Given the description of an element on the screen output the (x, y) to click on. 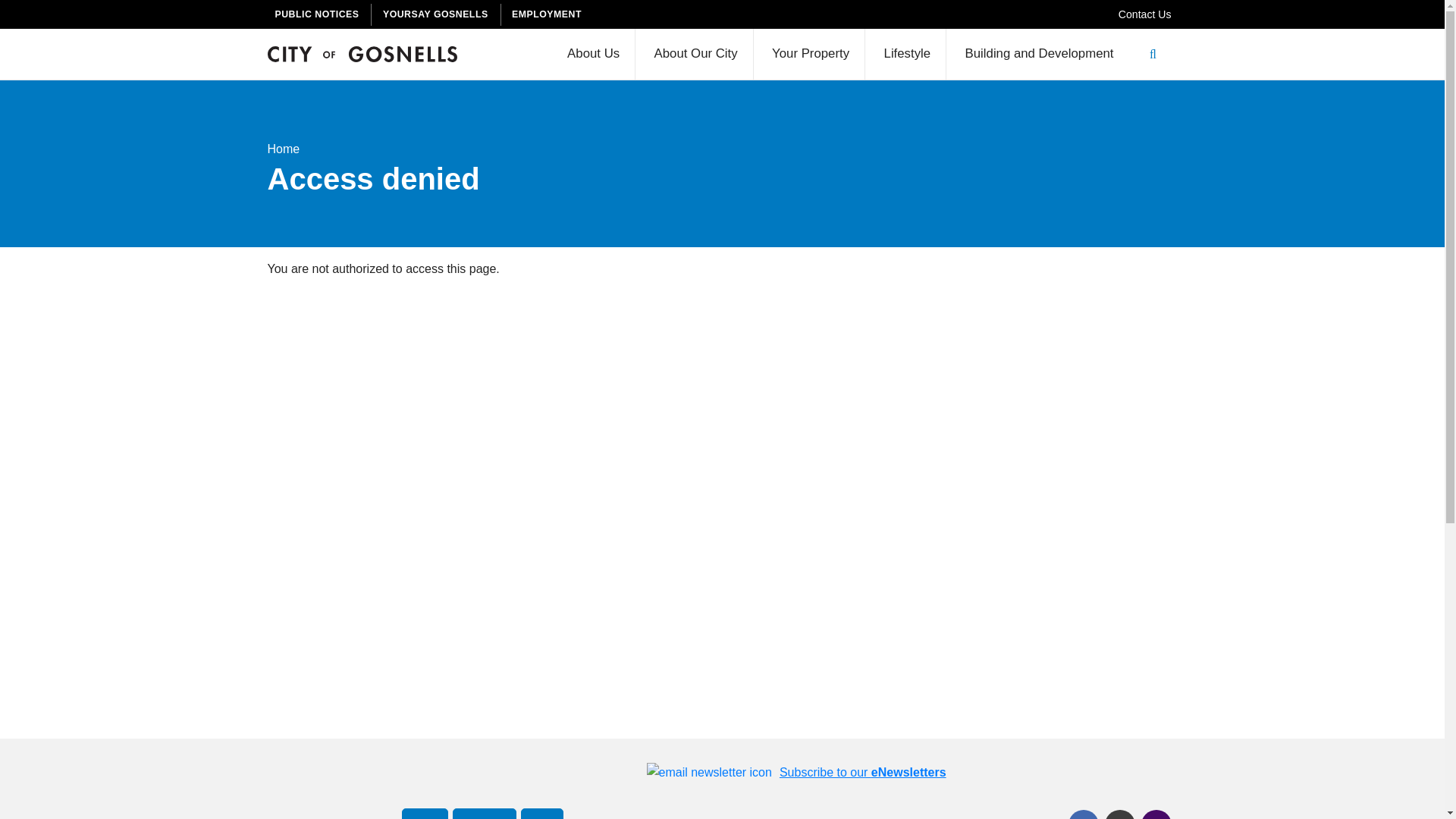
Contact Us (1144, 14)
City of Gosnells Public Notices (318, 14)
EMPLOYMENT (548, 14)
Open the print dialog. (1155, 814)
YOURSAY GOSNELLS (437, 14)
About Our City (695, 53)
About Us (592, 53)
Email a link to this page. (1118, 814)
Share this page on facebook. (1082, 814)
